Given the description of an element on the screen output the (x, y) to click on. 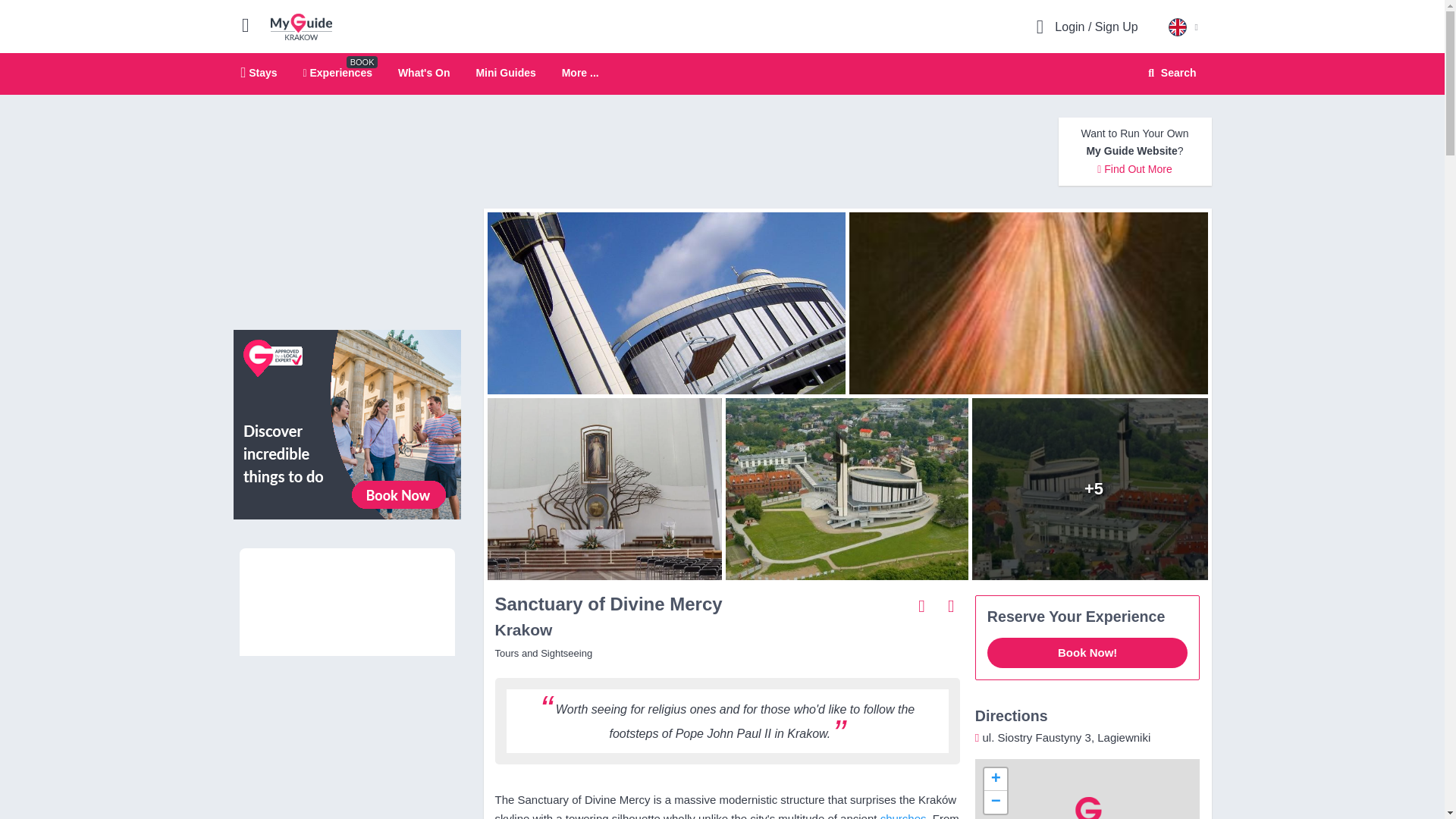
View All Experiences (346, 423)
Search (1169, 72)
GetYourGuide Widget (346, 599)
Sanctuary of Divine Mercy (1093, 488)
Stays (259, 72)
Sanctuary of Divine Mercy (846, 488)
Sanctuary of Divine Mercy (1031, 302)
More ... (580, 72)
Zoom in (995, 779)
What's On (721, 74)
Mini Guides (423, 72)
Experiences (505, 72)
Sanctuary of Divine Mercy (337, 72)
Sanctuary of Divine Mercy (662, 302)
